Given the description of an element on the screen output the (x, y) to click on. 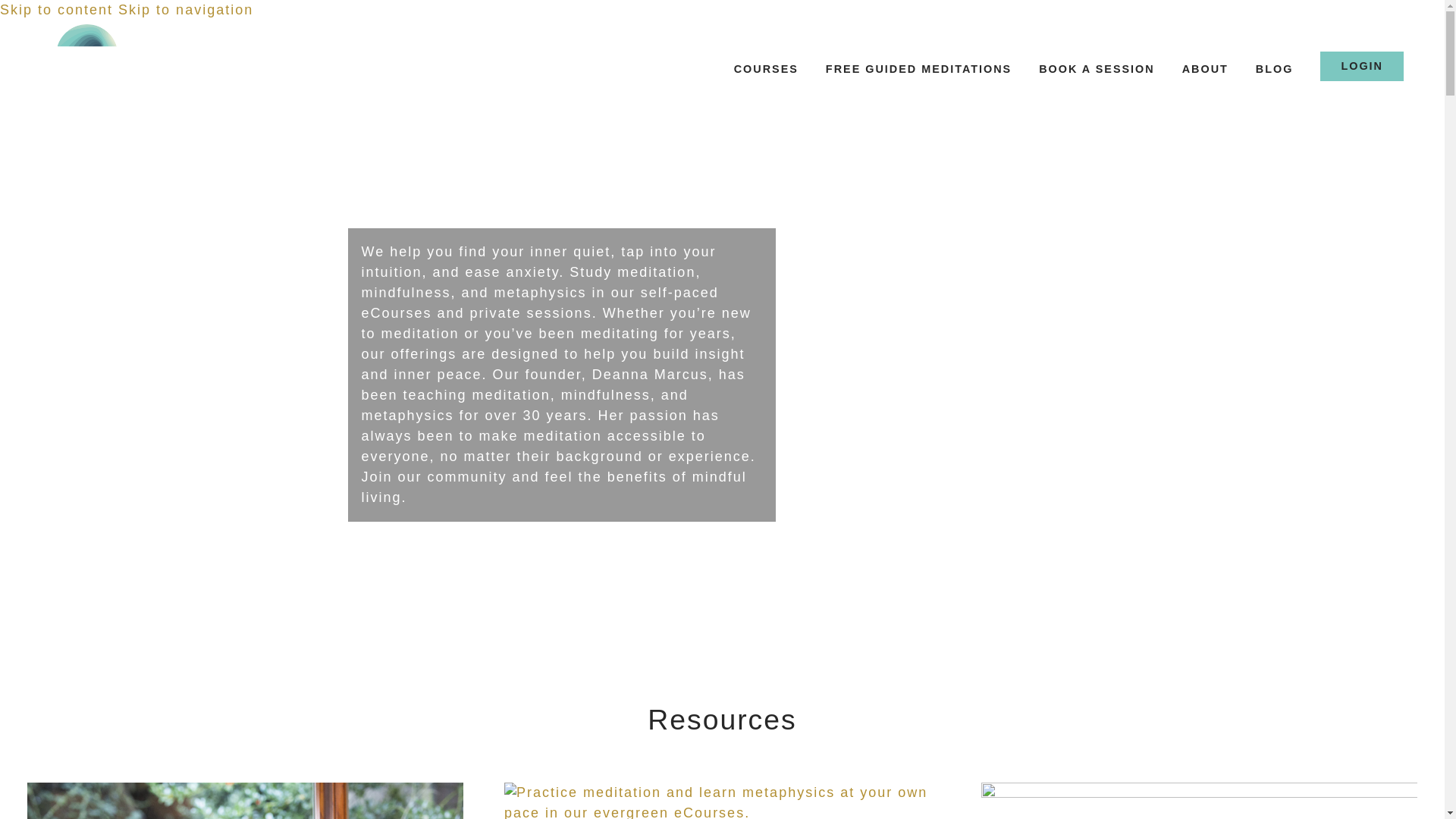
BOOK A SESSION (1096, 69)
Enjoy a Free Guided Meditation (245, 800)
Read Our Blog (1198, 800)
Courses and Guided Meditation (766, 69)
Member Login  (1361, 66)
COURSES (766, 69)
Free Courses and Meditations Sessions  (918, 69)
Skip to content (56, 9)
LOGIN (1361, 66)
logo-sdg-meditation (85, 65)
